Given the description of an element on the screen output the (x, y) to click on. 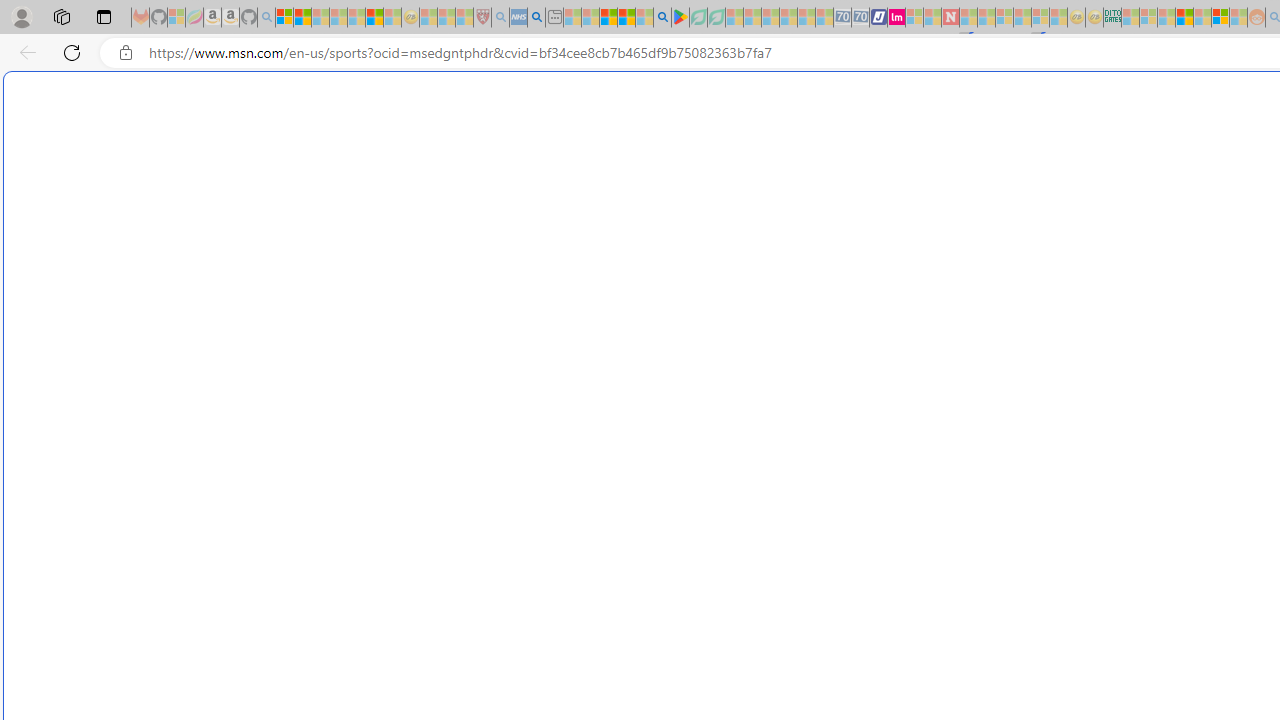
Bluey: Let's Play! - Apps on Google Play (680, 17)
